Given the description of an element on the screen output the (x, y) to click on. 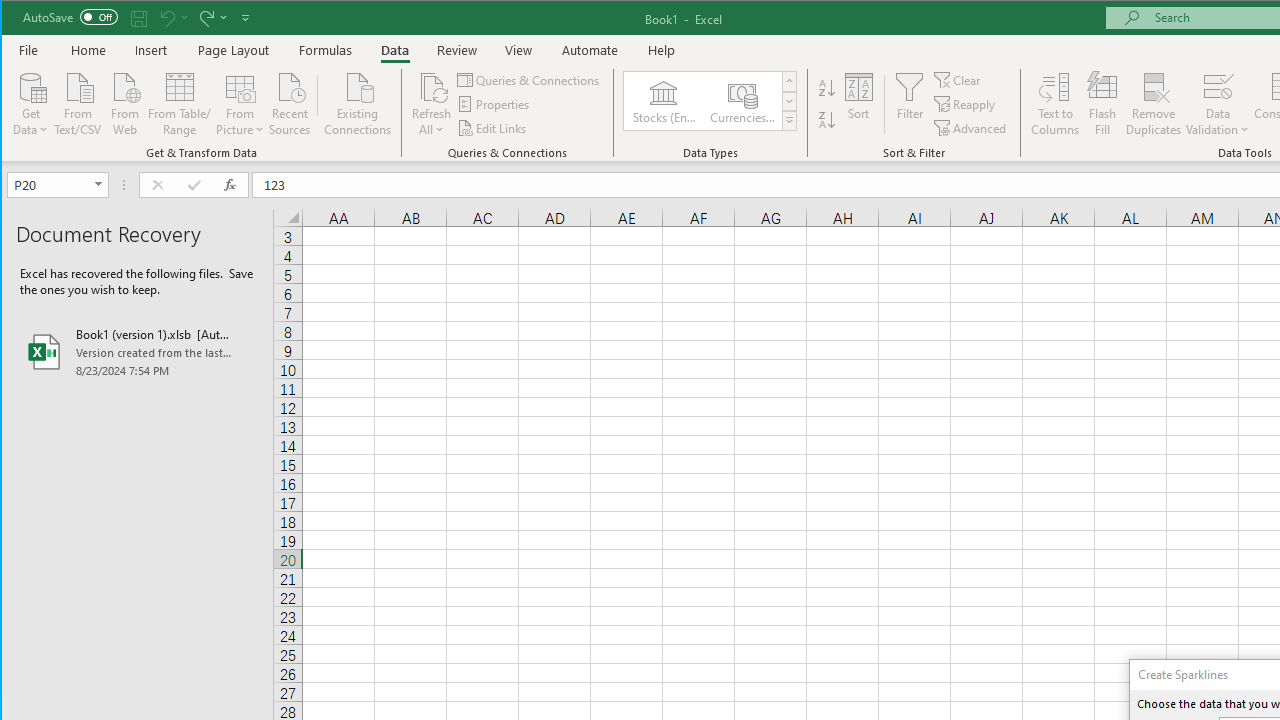
From Picture (240, 101)
From Text/CSV (77, 101)
Queries & Connections (529, 80)
Stocks (English) (663, 100)
AutoSave (70, 16)
Refresh All (431, 104)
Flash Fill (1102, 104)
Sort Largest to Smallest (827, 119)
